Given the description of an element on the screen output the (x, y) to click on. 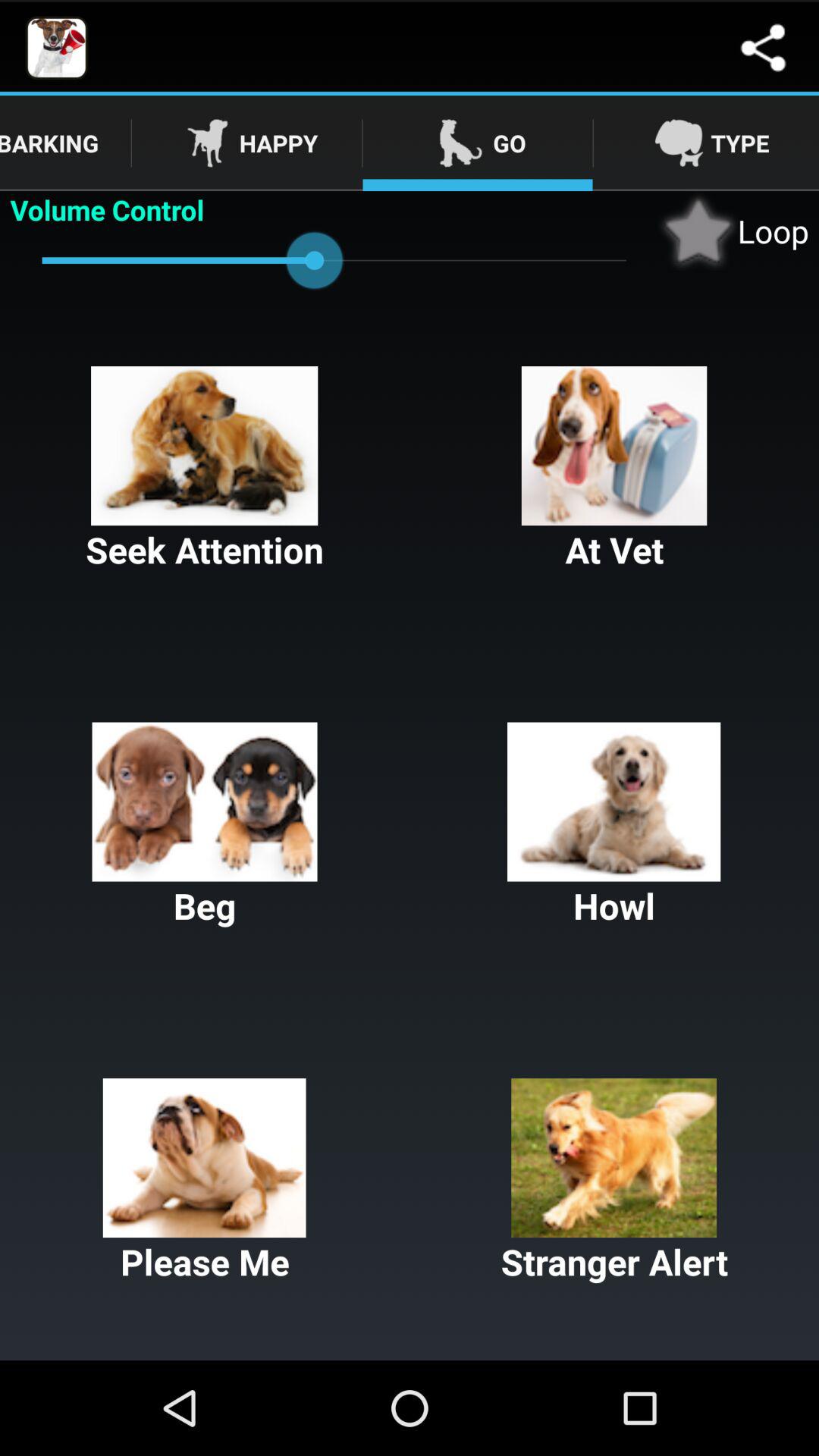
click please me (204, 1181)
